Given the description of an element on the screen output the (x, y) to click on. 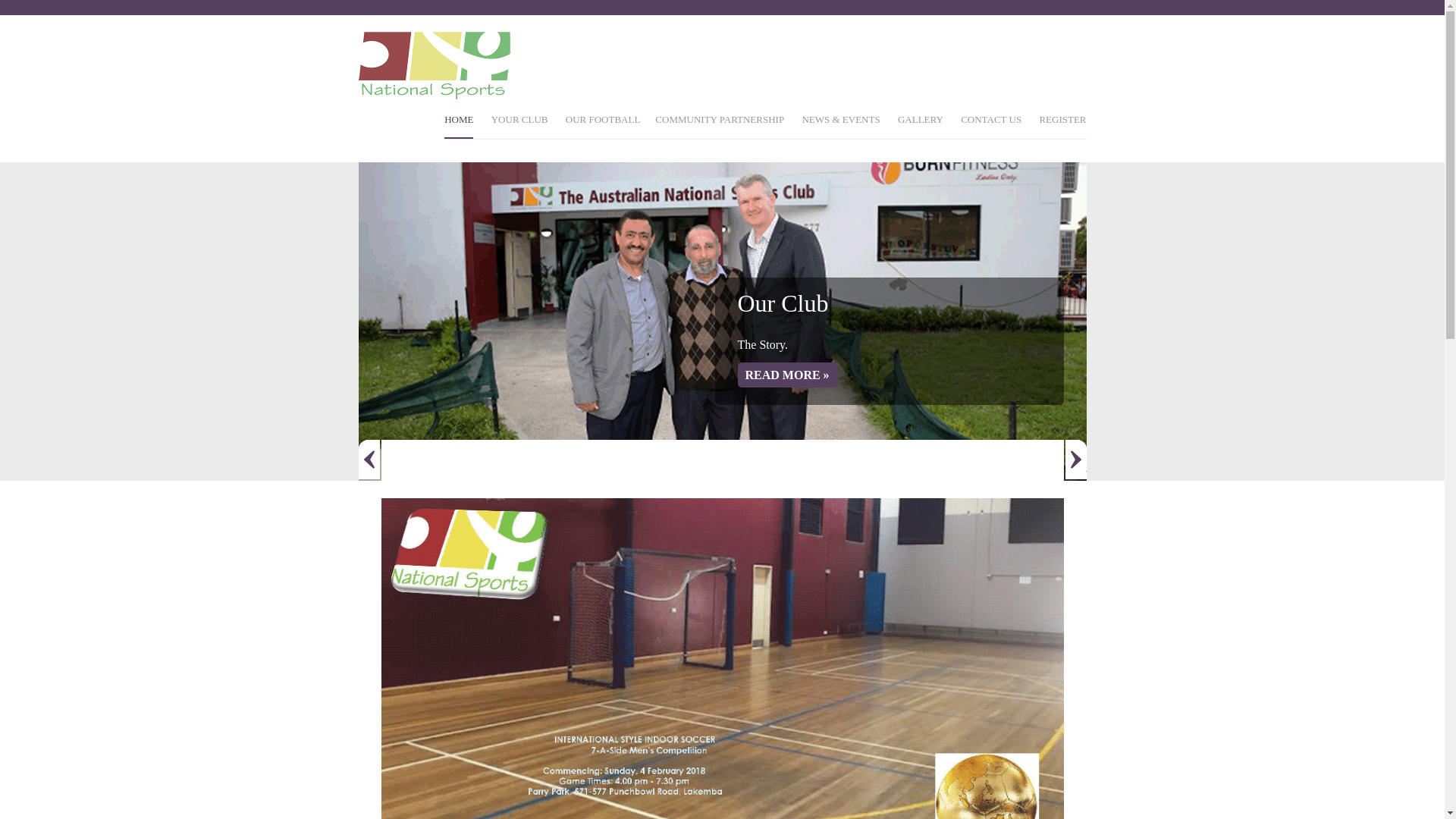
GALLERY Element type: text (920, 125)
Previous Element type: text (368, 459)
CONTACT US Element type: text (990, 125)
HOME Element type: text (458, 125)
NEWS & EVENTS Element type: text (840, 125)
REGISTER Element type: text (1061, 125)
Next Element type: text (1074, 459)
YOUR CLUB Element type: text (519, 125)
OUR FOOTBALL Element type: text (602, 125)
COMMUNITY PARTNERSHIP Element type: text (719, 125)
